Given the description of an element on the screen output the (x, y) to click on. 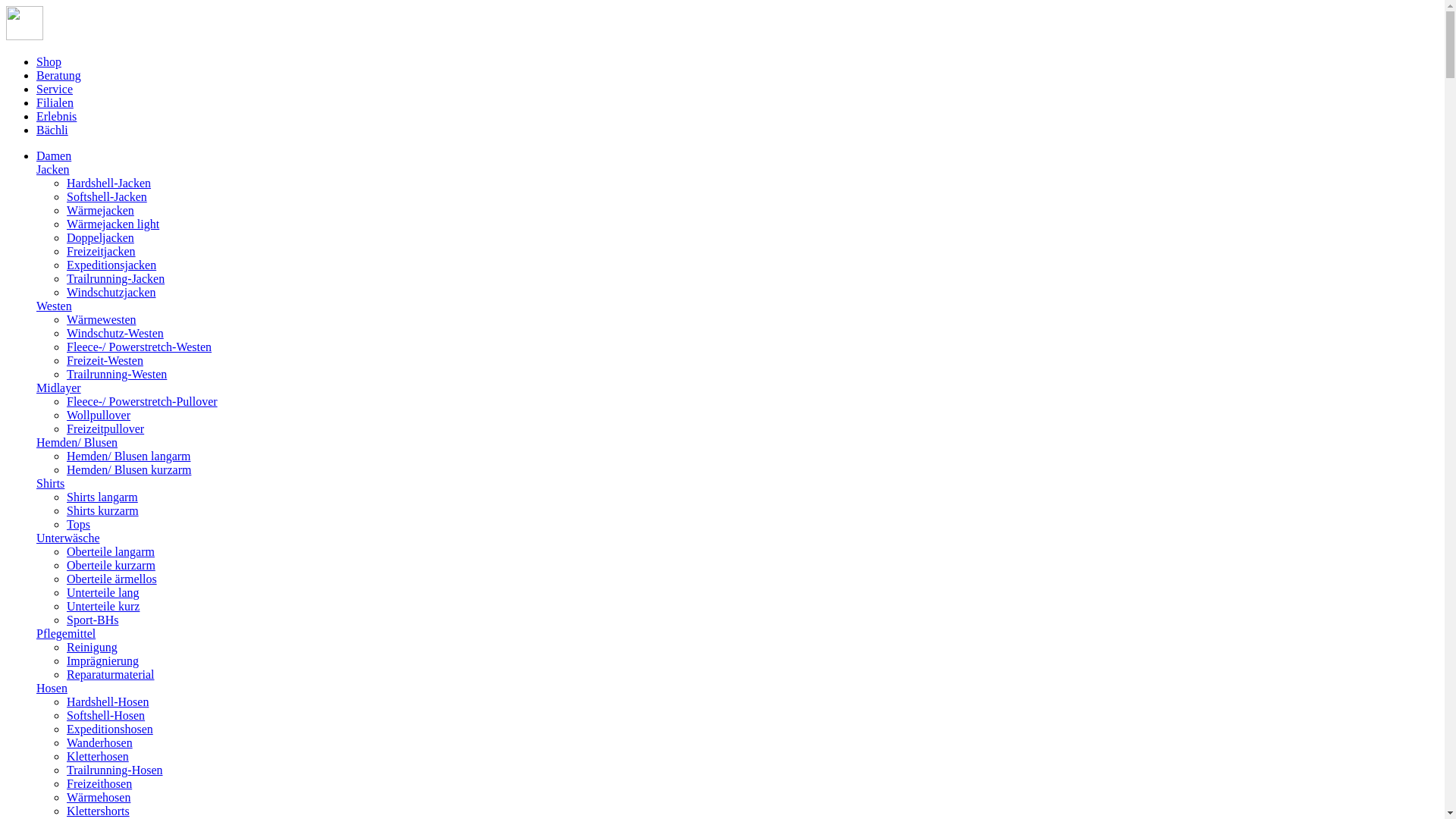
Pflegemittel Element type: text (65, 633)
Filialen Element type: text (54, 102)
Trailrunning-Hosen Element type: text (114, 769)
Oberteile kurzarm Element type: text (110, 564)
Softshell-Jacken Element type: text (106, 196)
Unterteile lang Element type: text (102, 592)
Hemden/ Blusen kurzarm Element type: text (128, 469)
Sport-BHs Element type: text (92, 619)
Expeditionshosen Element type: text (109, 728)
Freizeitpullover Element type: text (105, 428)
Midlayer Element type: text (58, 387)
Service Element type: text (54, 88)
Oberteile langarm Element type: text (110, 551)
Trailrunning-Jacken Element type: text (115, 278)
Hemden/ Blusen langarm Element type: text (128, 455)
Hemden/ Blusen Element type: text (76, 442)
Freizeitjacken Element type: text (100, 250)
Softshell-Hosen Element type: text (105, 715)
Reparaturmaterial Element type: text (110, 674)
Freizeit-Westen Element type: text (104, 360)
Klettershorts Element type: text (97, 810)
Wollpullover Element type: text (98, 414)
Shirts kurzarm Element type: text (102, 510)
Wanderhosen Element type: text (99, 742)
Shop Element type: text (48, 61)
Hardshell-Jacken Element type: text (108, 182)
Erlebnis Element type: text (56, 115)
Tops Element type: text (78, 523)
Shirts Element type: text (50, 482)
Jacken Element type: text (52, 169)
Expeditionsjacken Element type: text (111, 264)
Fleece-/ Powerstretch-Westen Element type: text (138, 346)
Westen Element type: text (54, 305)
Damen Element type: text (53, 155)
Unterteile kurz Element type: text (102, 605)
Hardshell-Hosen Element type: text (107, 701)
Windschutz-Westen Element type: text (114, 332)
Freizeithosen Element type: text (98, 783)
Hosen Element type: text (51, 687)
Doppeljacken Element type: text (100, 237)
Windschutzjacken Element type: text (111, 291)
Reinigung Element type: text (91, 646)
Shirts langarm Element type: text (102, 496)
Kletterhosen Element type: text (97, 755)
Beratung Element type: text (58, 75)
Trailrunning-Westen Element type: text (116, 373)
Fleece-/ Powerstretch-Pullover Element type: text (141, 401)
